Given the description of an element on the screen output the (x, y) to click on. 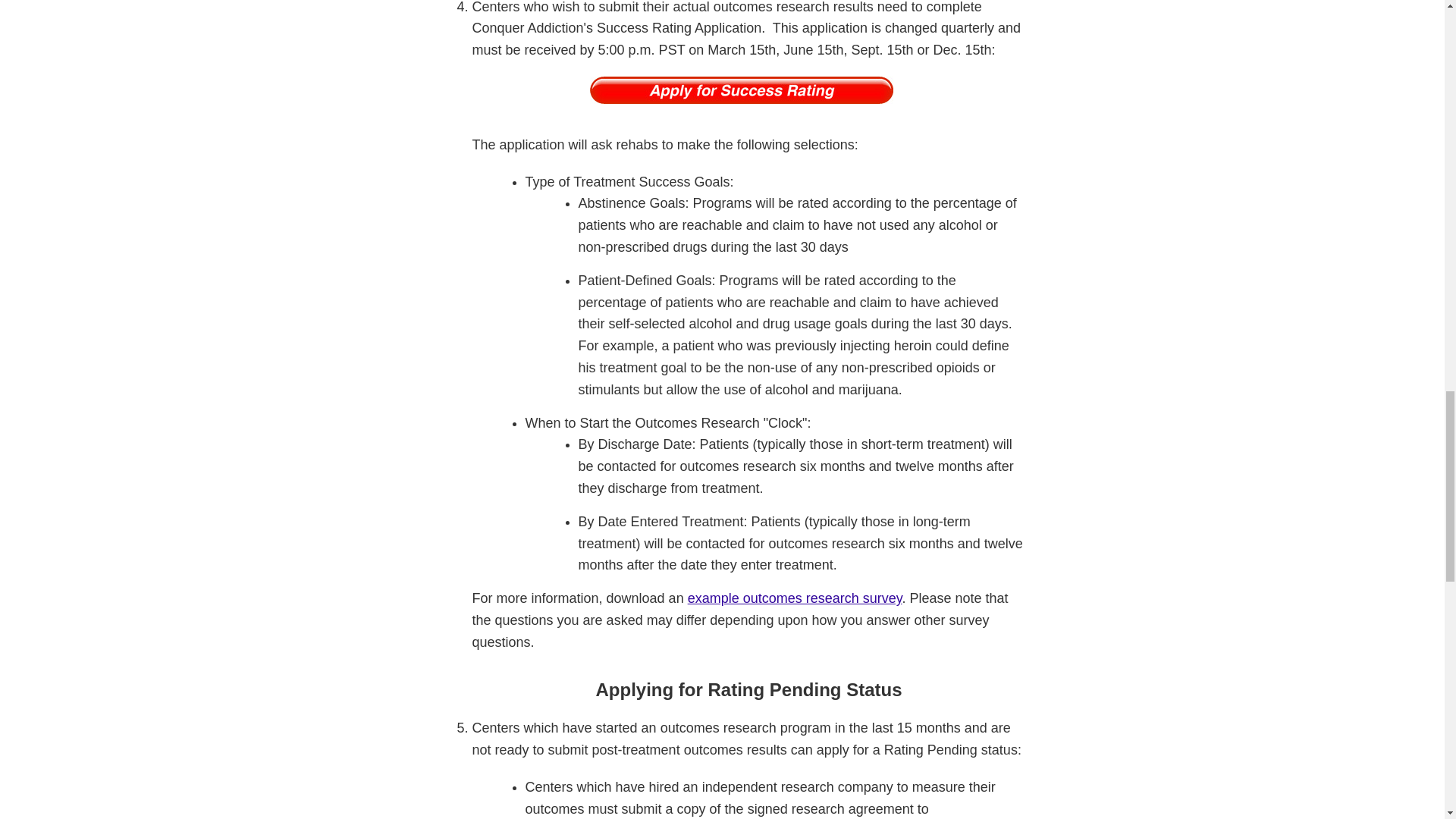
example outcomes research survey (794, 598)
